Given the description of an element on the screen output the (x, y) to click on. 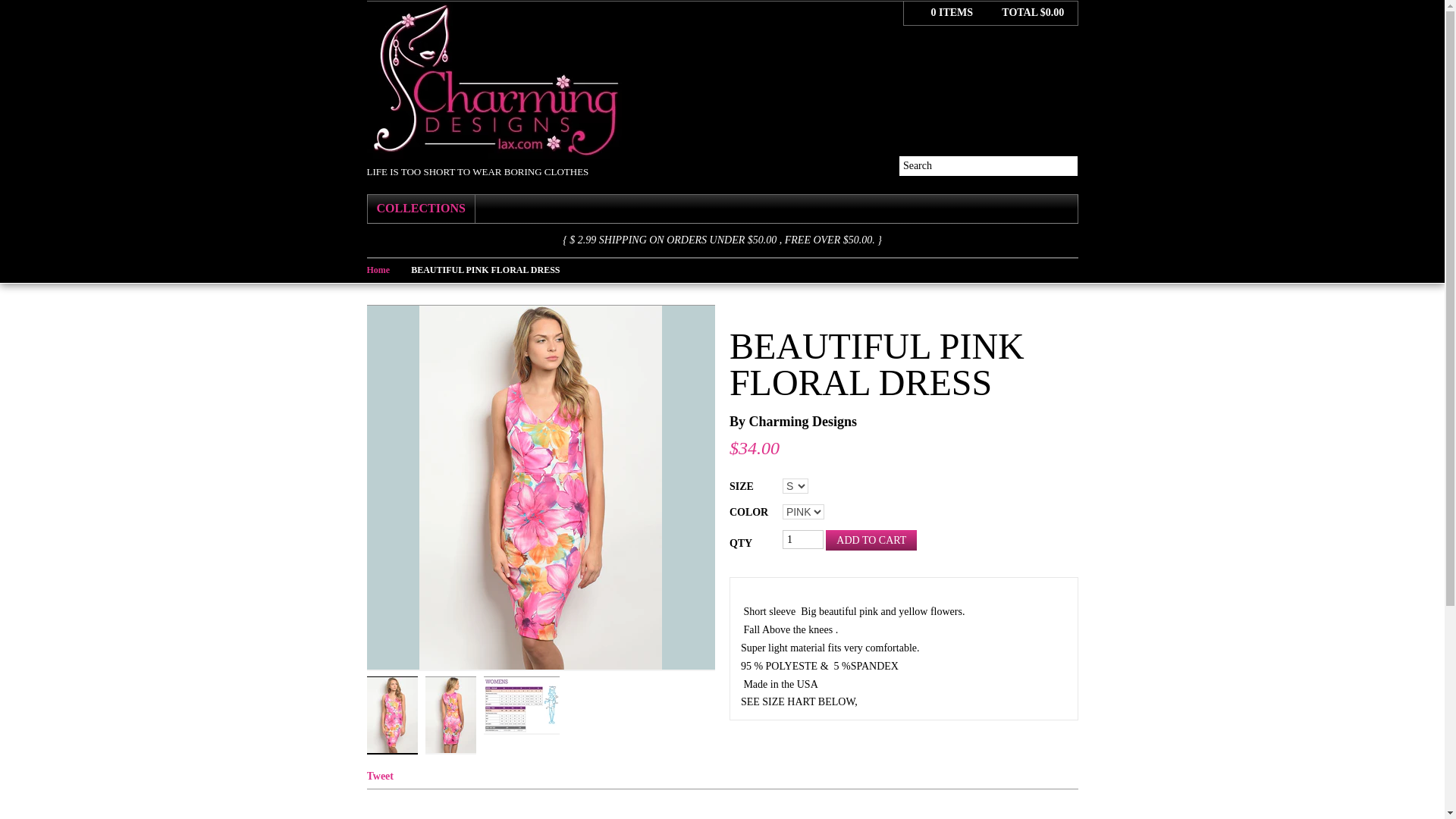
Tweet (380, 776)
Add To Cart (871, 539)
COLLECTIONS (420, 208)
Go (1067, 165)
Add To Cart (871, 539)
1 (803, 538)
Home (389, 269)
Go (1067, 165)
